Given the description of an element on the screen output the (x, y) to click on. 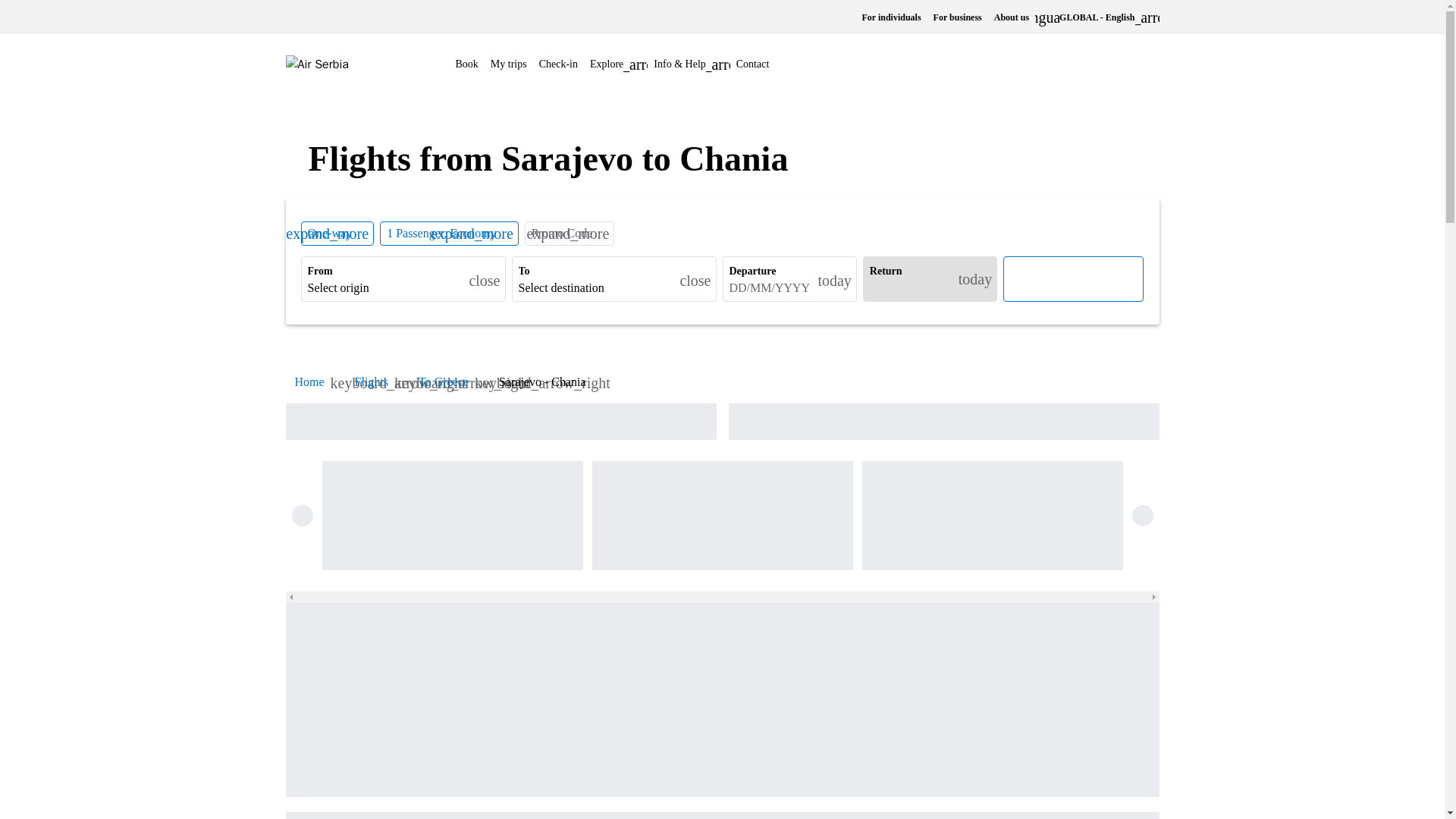
About us (1011, 17)
Home (308, 381)
1 Passenger, Economy (441, 233)
For business (957, 17)
Promo Code (561, 233)
One-way (329, 233)
SEARCH (1072, 279)
For individuals (891, 17)
Flights (371, 381)
To Greece (443, 381)
